Given the description of an element on the screen output the (x, y) to click on. 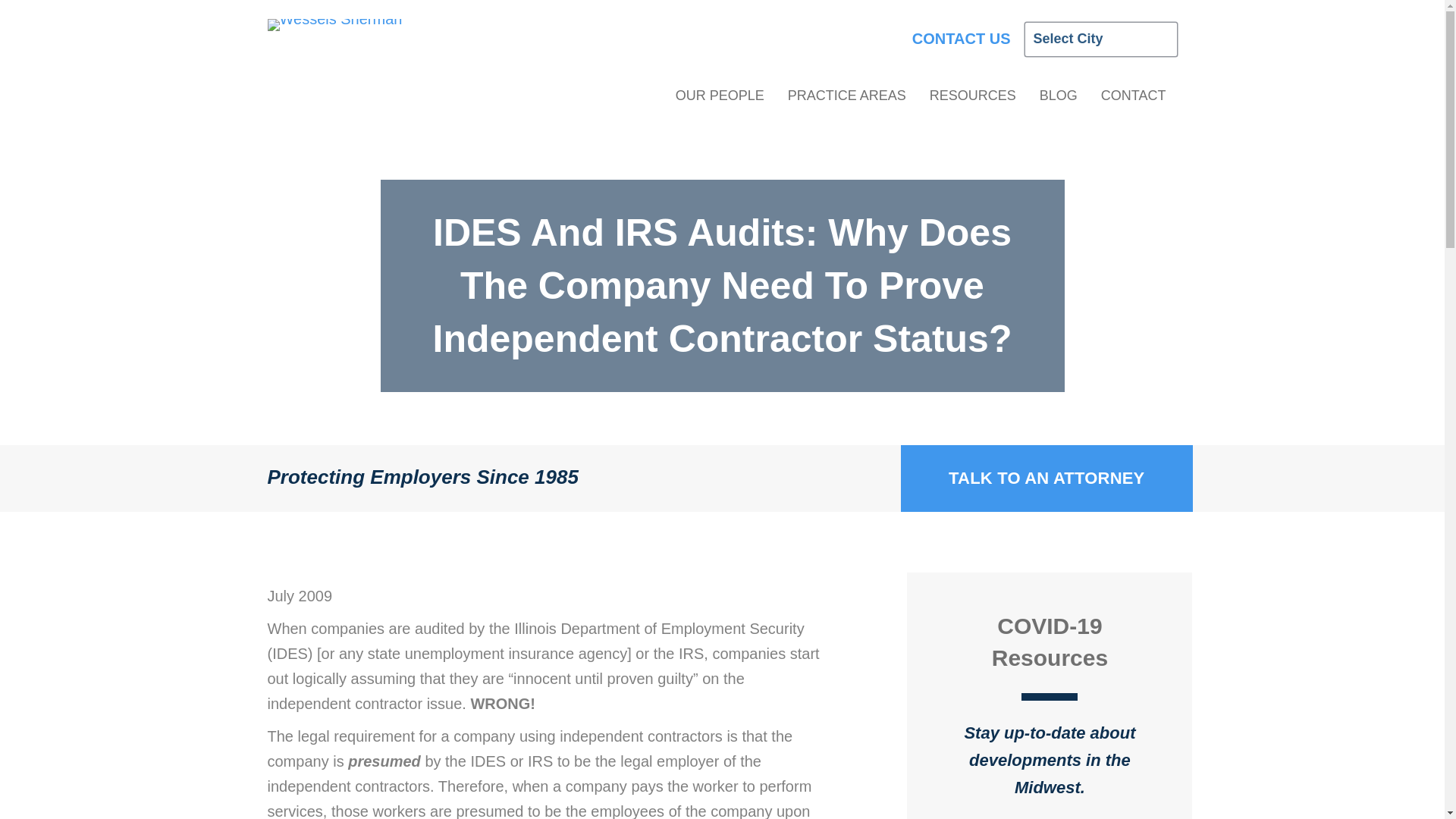
TALK TO AN ATTORNEY (1046, 478)
RESOURCES (972, 100)
CONTACT (1133, 100)
PRACTICE AREAS (846, 100)
CONTACT US (969, 38)
BLOG (1058, 100)
Wessels Sherman (333, 24)
OUR PEOPLE (719, 100)
